Given the description of an element on the screen output the (x, y) to click on. 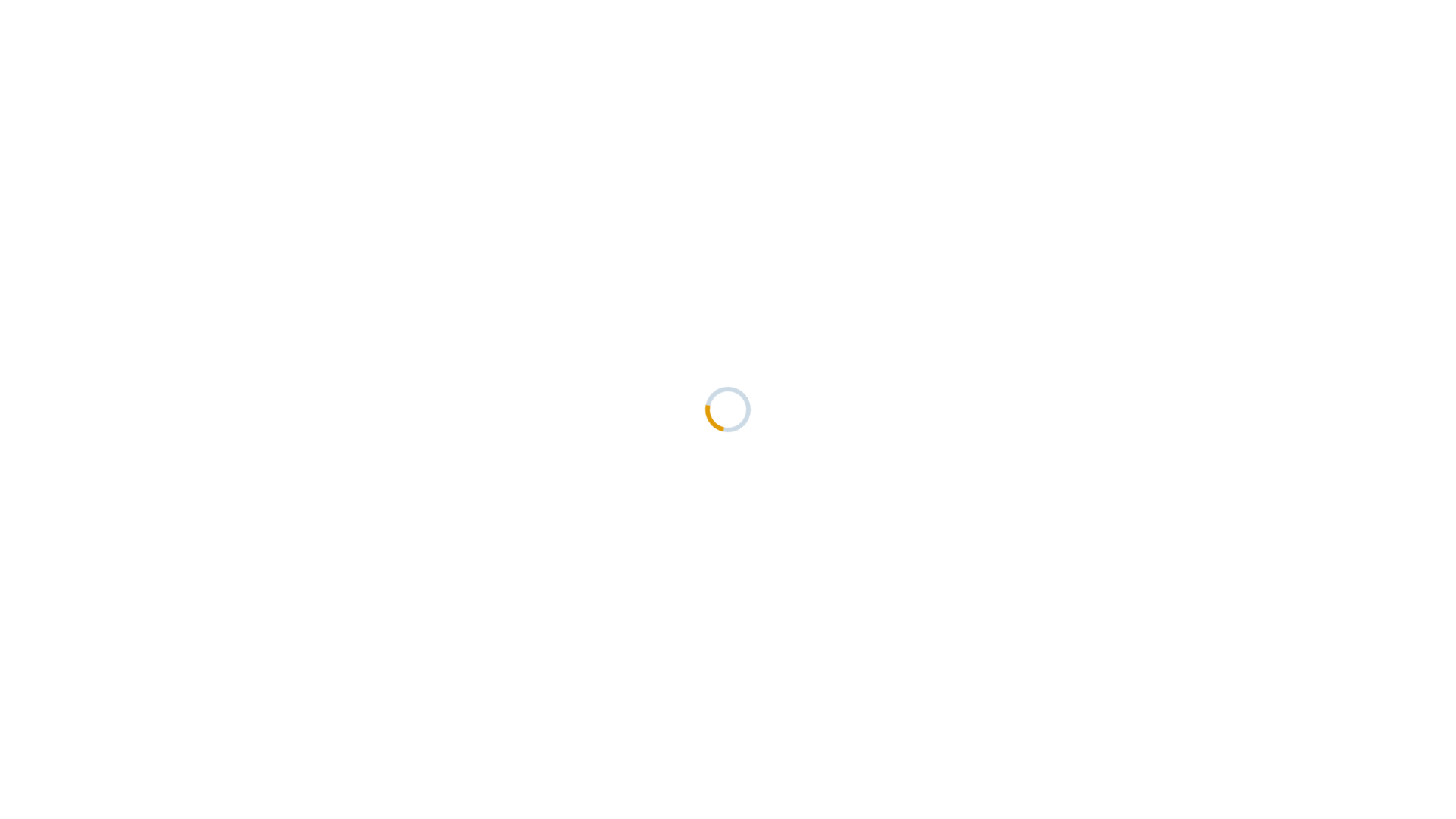
+7(495) 128-18-07 Element type: text (1112, 54)
info@buh.center Element type: text (784, 598)
